Given the description of an element on the screen output the (x, y) to click on. 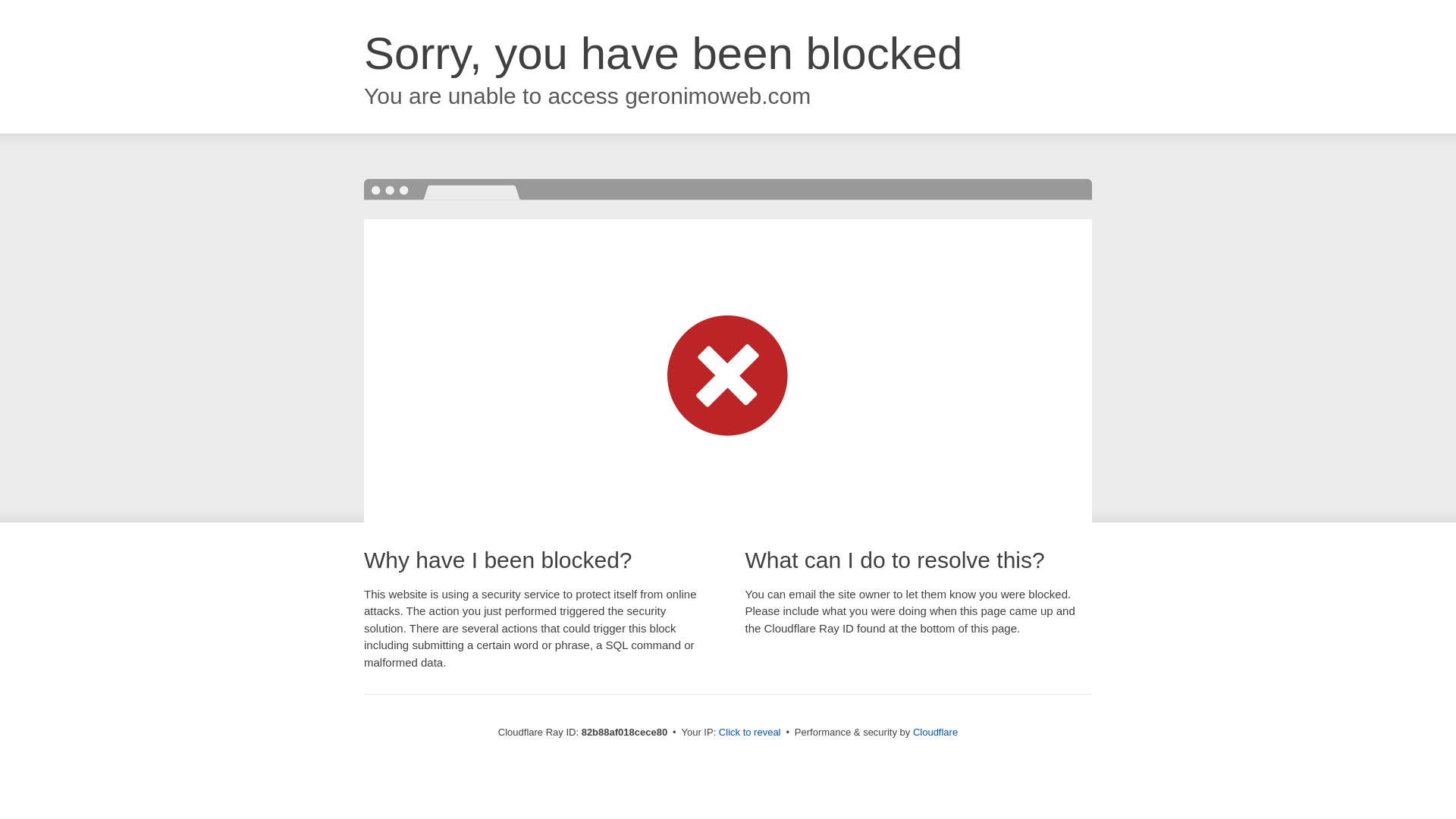
Cloudflare Element type: text (935, 731)
Click to reveal Element type: text (749, 732)
